Given the description of an element on the screen output the (x, y) to click on. 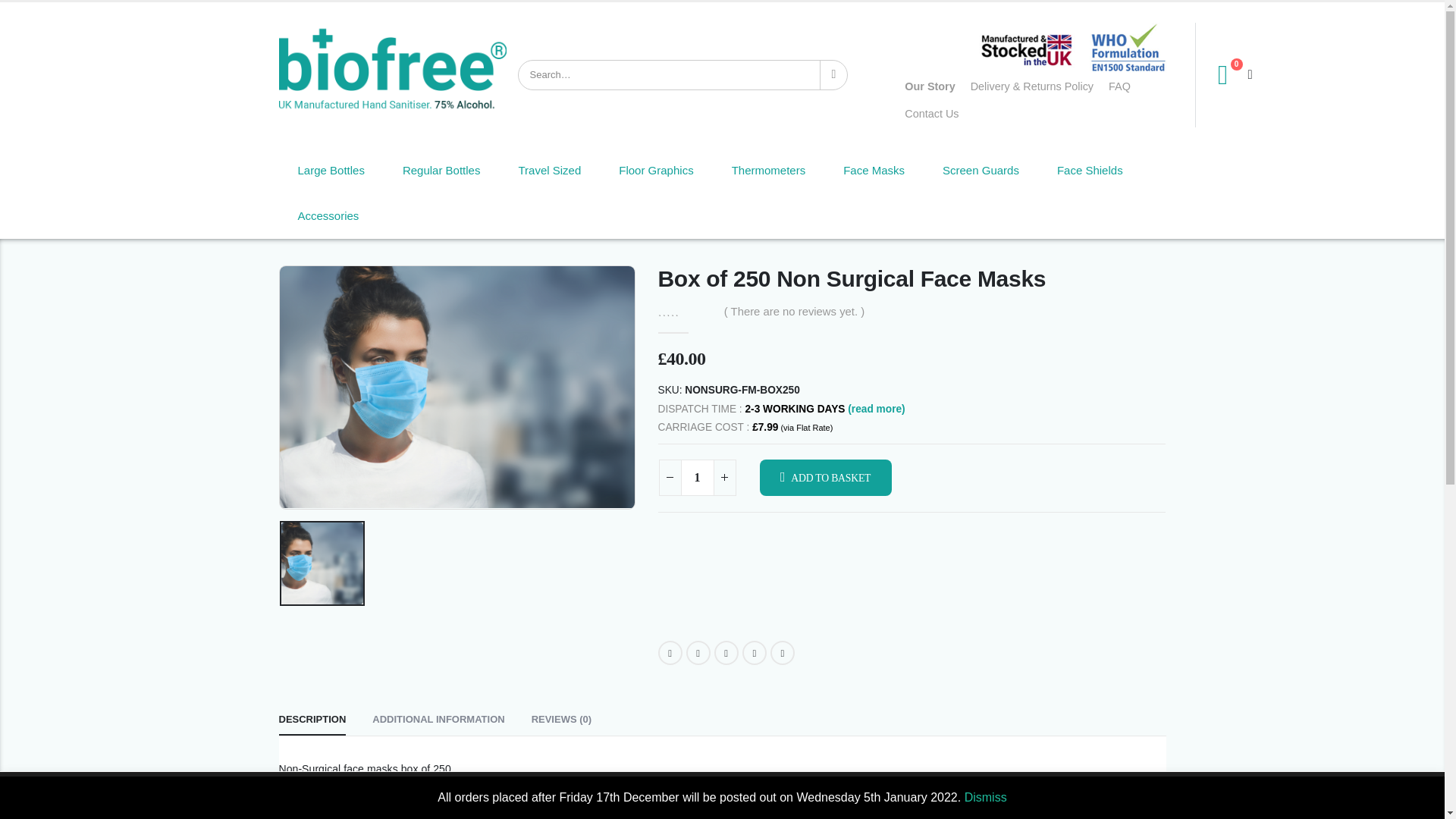
FACEBOOK (670, 652)
Face-Mask-Lifestyle.png (456, 386)
ADD TO BASKET (825, 477)
Face Shields (1090, 170)
Travel Sized (548, 170)
PayPal (912, 589)
FAQ (1119, 85)
EMAIL (782, 652)
Regular Bottles (441, 170)
Screen Guards (980, 170)
TWITTER (697, 652)
Our Story (929, 85)
LINKEDIN (726, 652)
Thermometers (768, 170)
1 (697, 477)
